Given the description of an element on the screen output the (x, y) to click on. 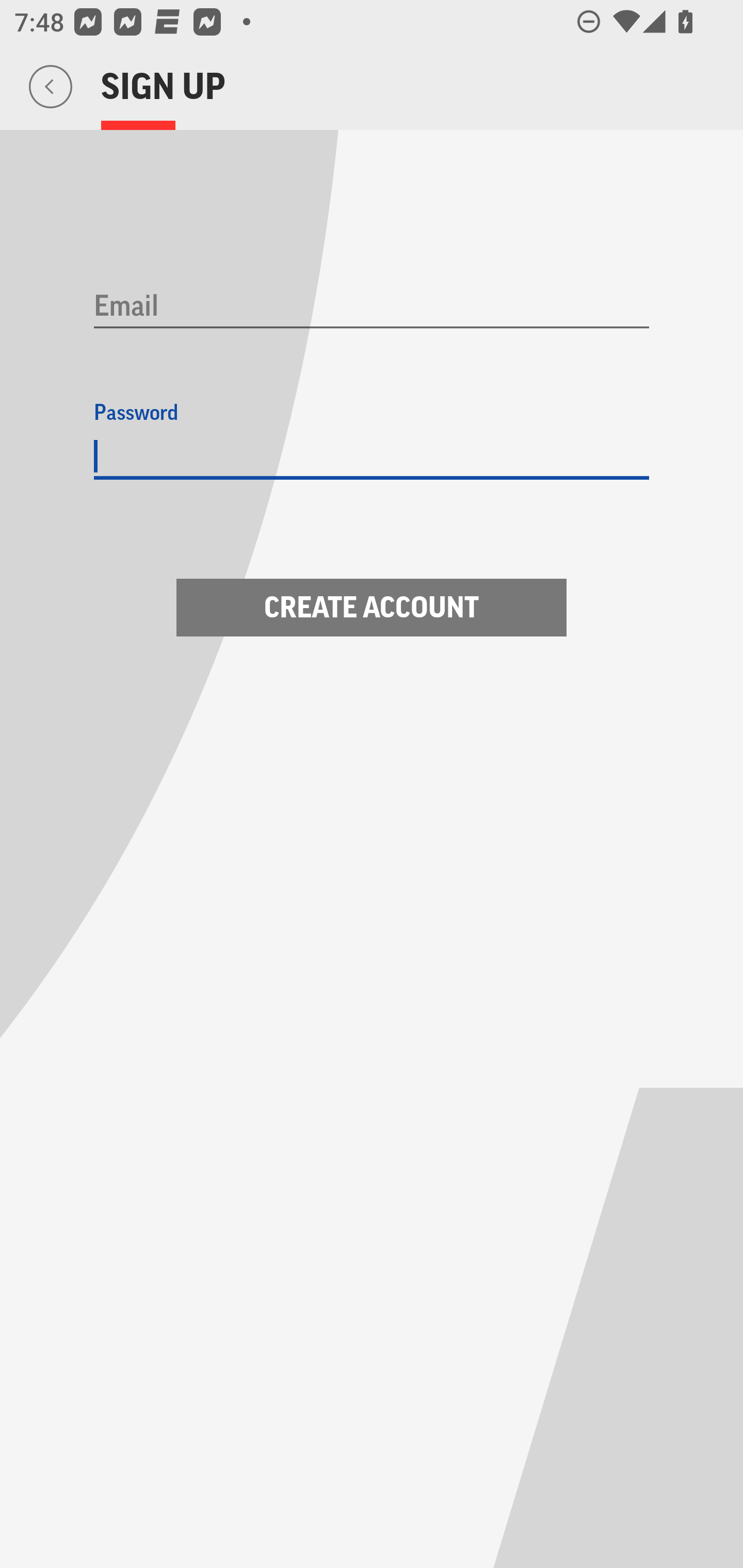
Email (371, 306)
Password (371, 456)
CREATE ACCOUNT (371, 607)
